Given the description of an element on the screen output the (x, y) to click on. 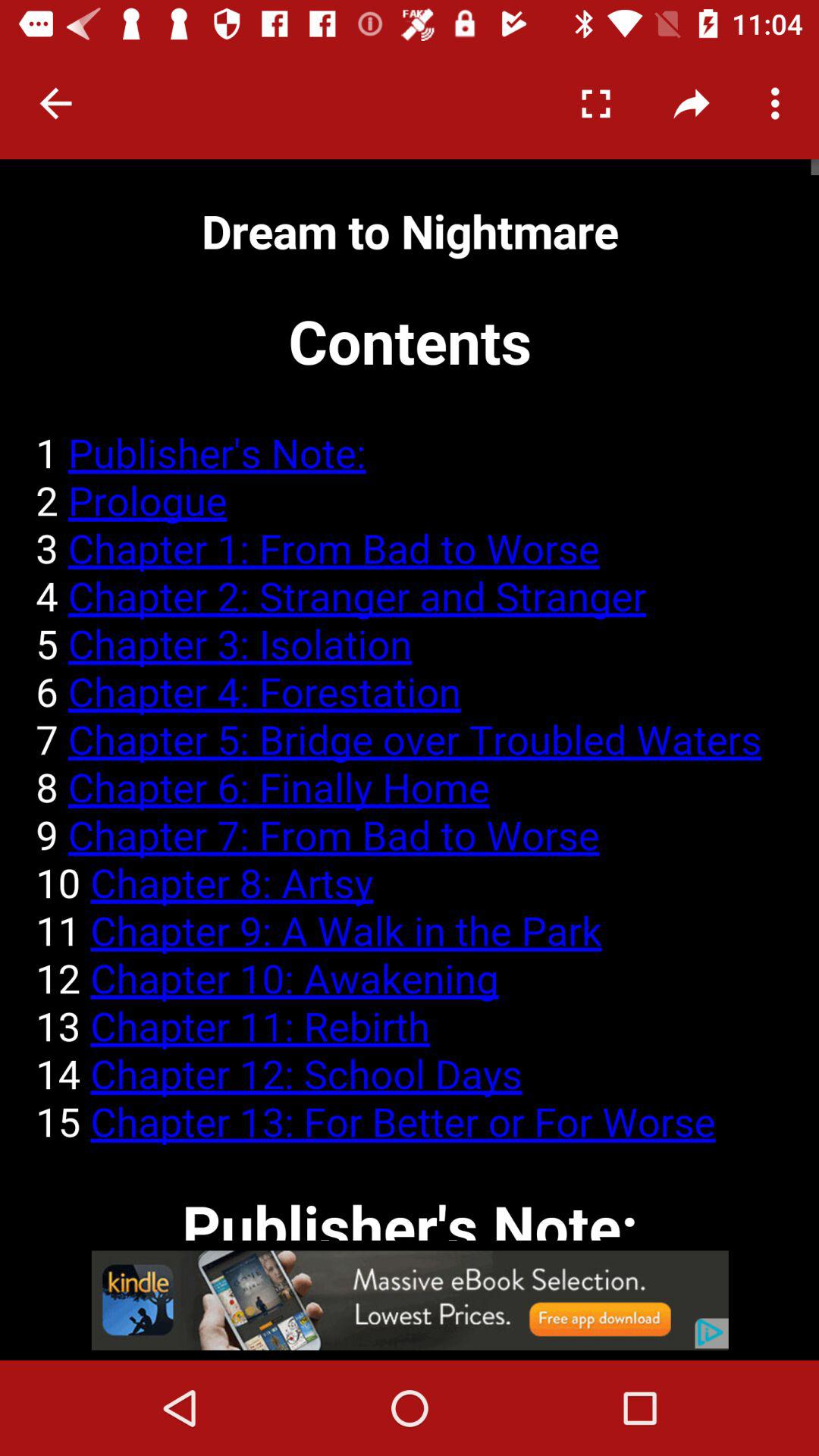
advertisement banner (409, 1300)
